Given the description of an element on the screen output the (x, y) to click on. 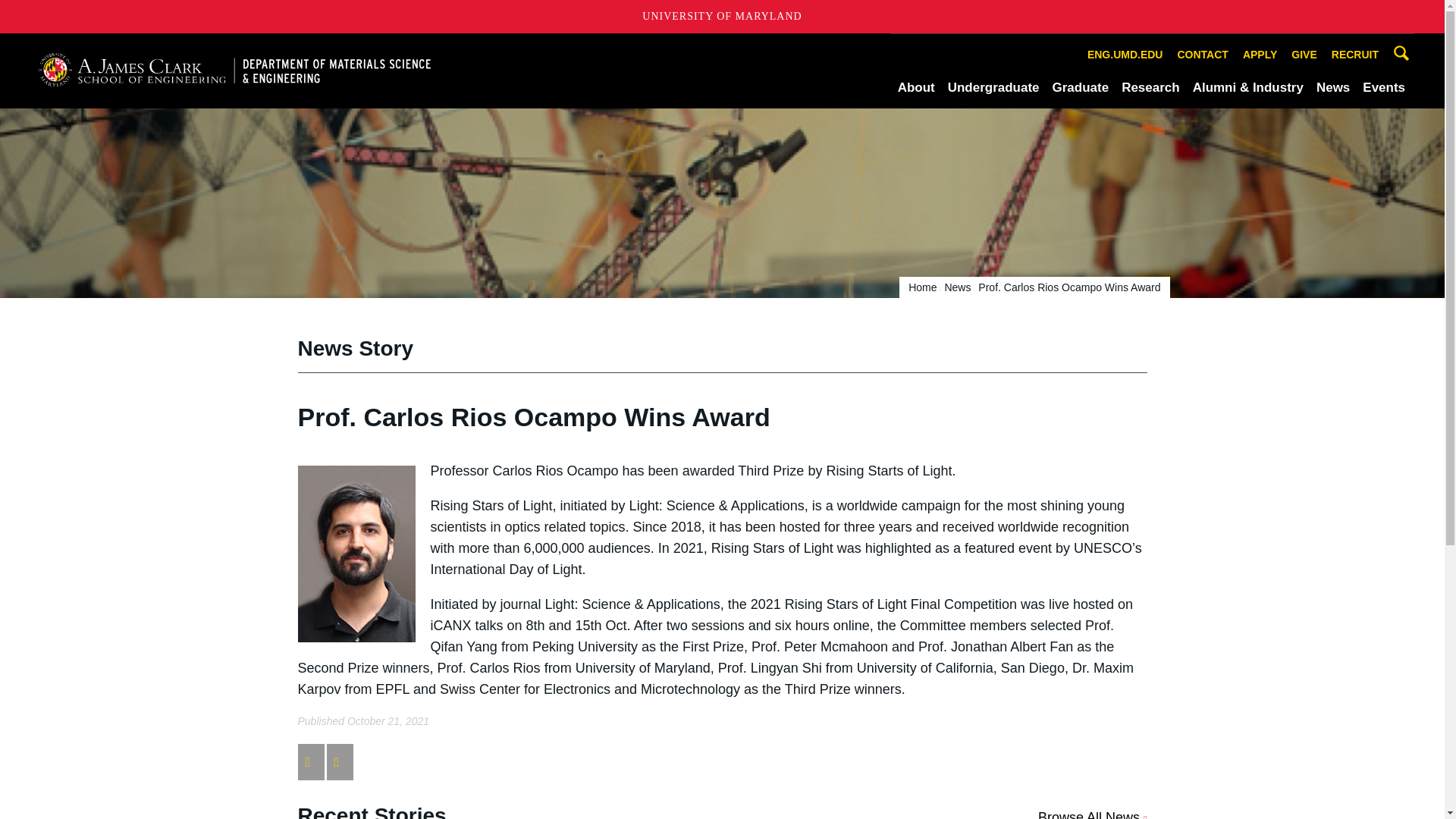
UNIVERSITY OF MARYLAND (722, 16)
A. James Clark School of Engineering, University of Maryland (233, 69)
About (916, 87)
GIVE (1303, 54)
CONTACT (1202, 54)
ENG.UMD.EDU (1125, 54)
Undergraduate (993, 87)
RECRUIT (1355, 54)
APPLY (1259, 54)
